Given the description of an element on the screen output the (x, y) to click on. 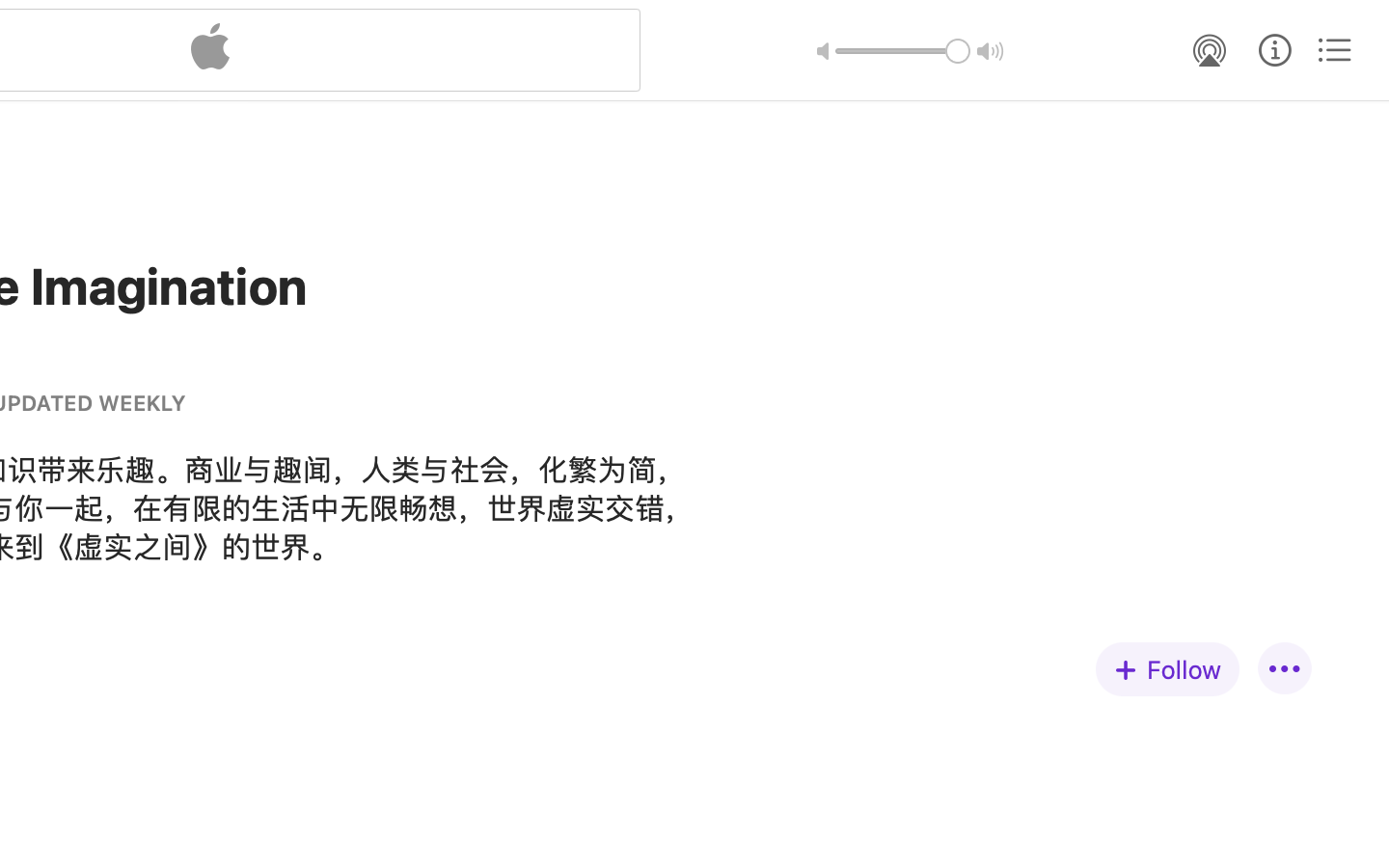
1.0 Element type: AXSlider (902, 50)
